Given the description of an element on the screen output the (x, y) to click on. 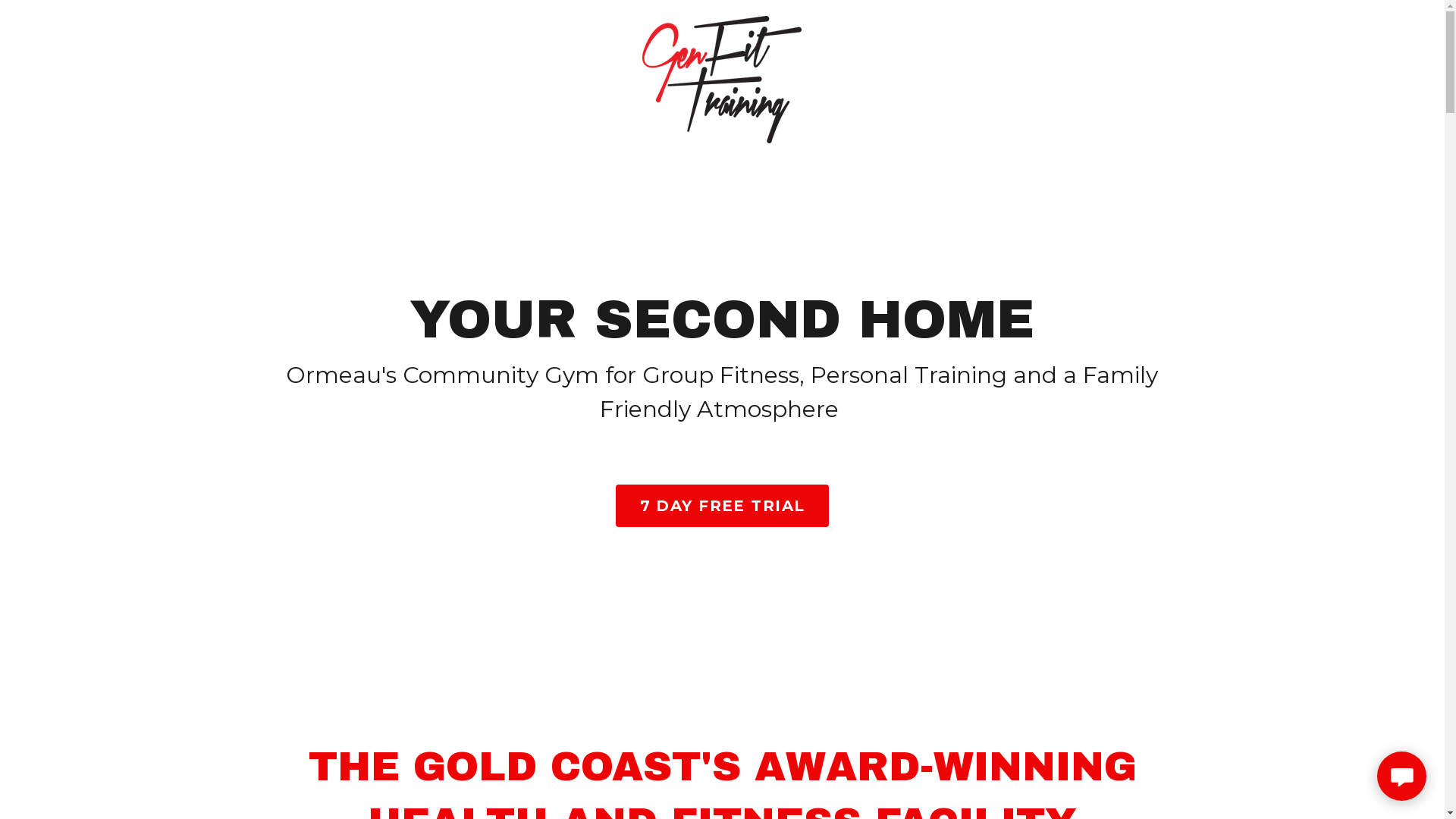
Genfit Training Centre Element type: hover (721, 23)
7 DAY FREE TRIAL Element type: text (722, 504)
